Given the description of an element on the screen output the (x, y) to click on. 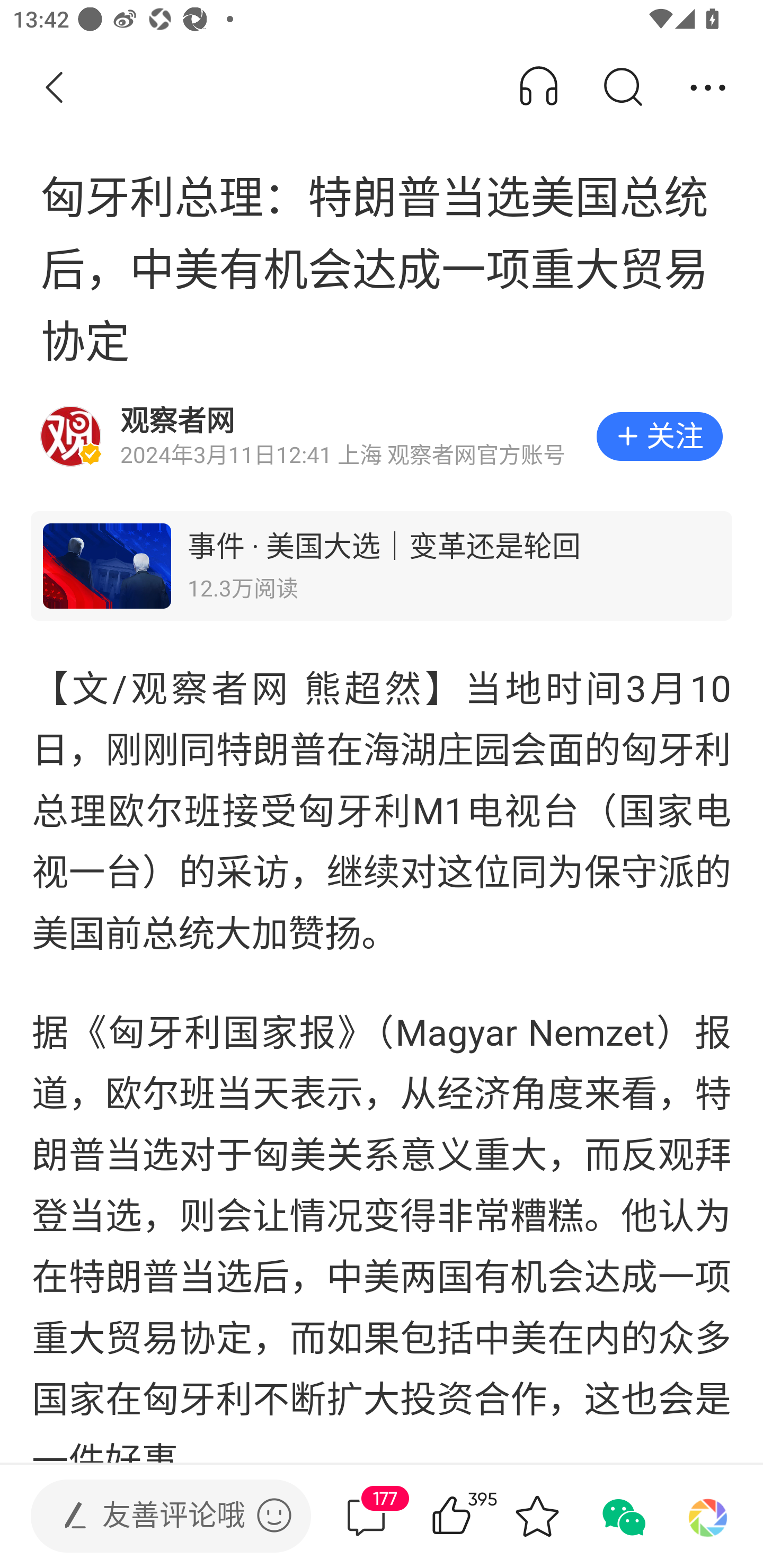
搜索  (622, 87)
分享  (707, 87)
 返回 (54, 87)
观察者网 2024年3月11日12:41 上海 观察者网官方账号  关注 (381, 436)
 关注 (659, 436)
事件 ·  美国大选｜变革还是轮回 12.3万阅读 (381, 565)
发表评论  友善评论哦 发表评论  (155, 1516)
177评论  177 评论 (365, 1516)
395赞 (476, 1516)
收藏  (536, 1516)
分享到微信  (622, 1516)
分享到朋友圈 (707, 1516)
 (274, 1515)
